Given the description of an element on the screen output the (x, y) to click on. 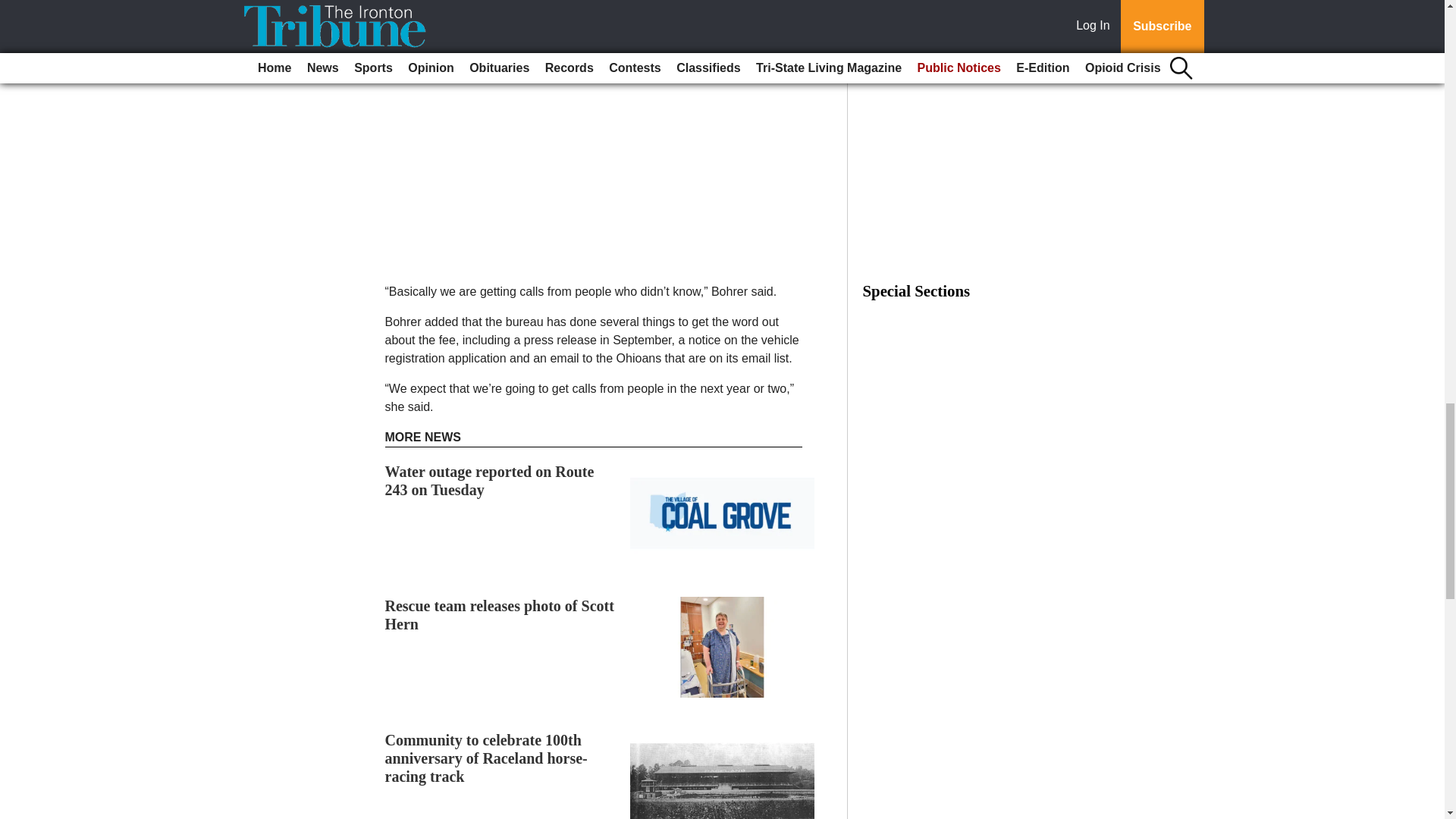
Rescue team releases photo of Scott Hern (499, 614)
Water outage reported on Route 243 on Tuesday (489, 480)
Water outage reported on Route 243 on Tuesday (489, 480)
Rescue team releases photo of Scott Hern (499, 614)
